Given the description of an element on the screen output the (x, y) to click on. 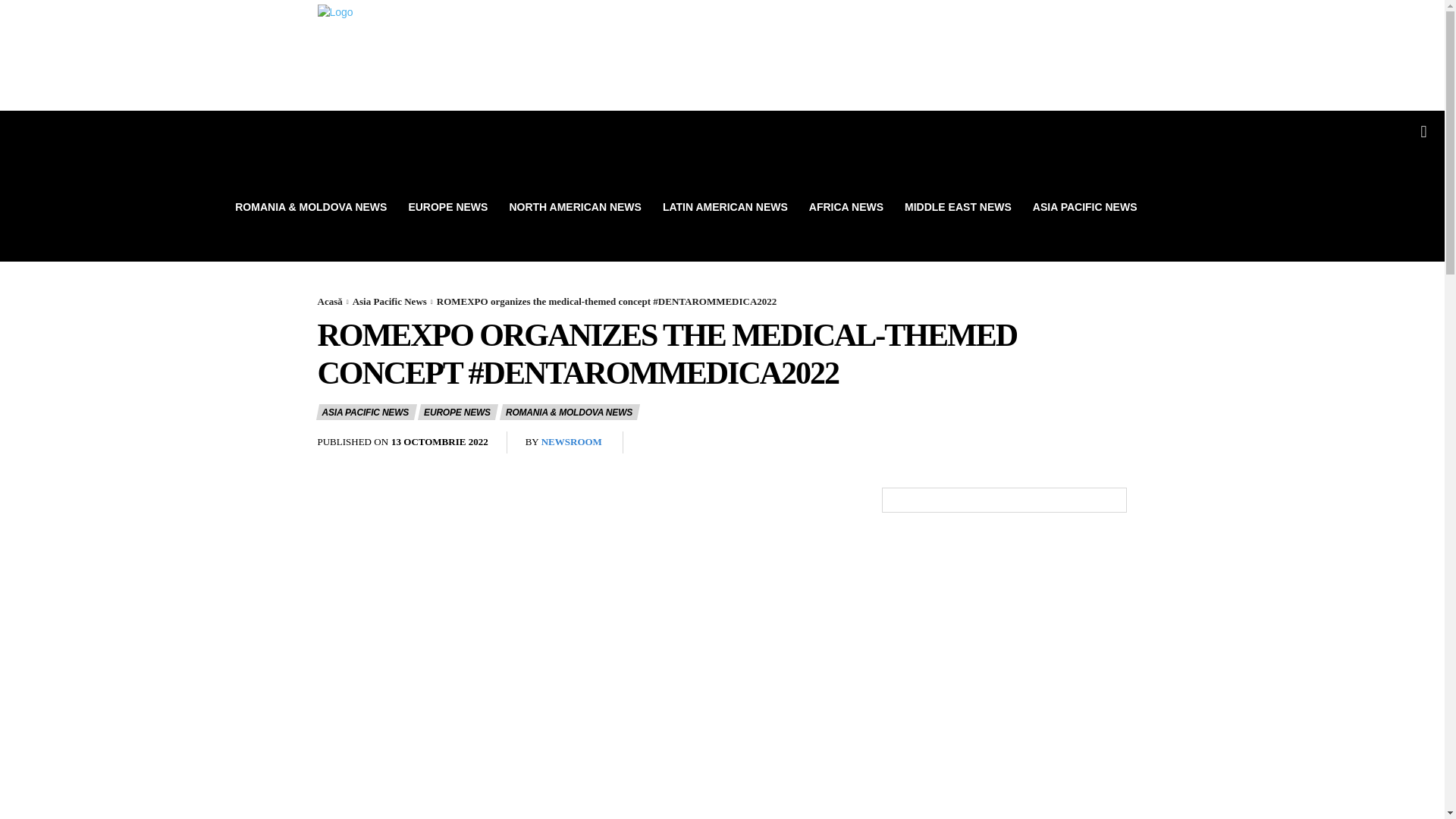
NORTH AMERICAN NEWS (573, 207)
Asia Pacific News (389, 301)
EUROPE NEWS (447, 207)
EUROPE NEWS (457, 412)
NEWSROOM (571, 441)
MIDDLE EAST NEWS (957, 207)
AFRICA NEWS (845, 207)
LATIN AMERICAN NEWS (724, 207)
ASIA PACIFIC NEWS (365, 412)
ASIA PACIFIC NEWS (1085, 207)
